Given the description of an element on the screen output the (x, y) to click on. 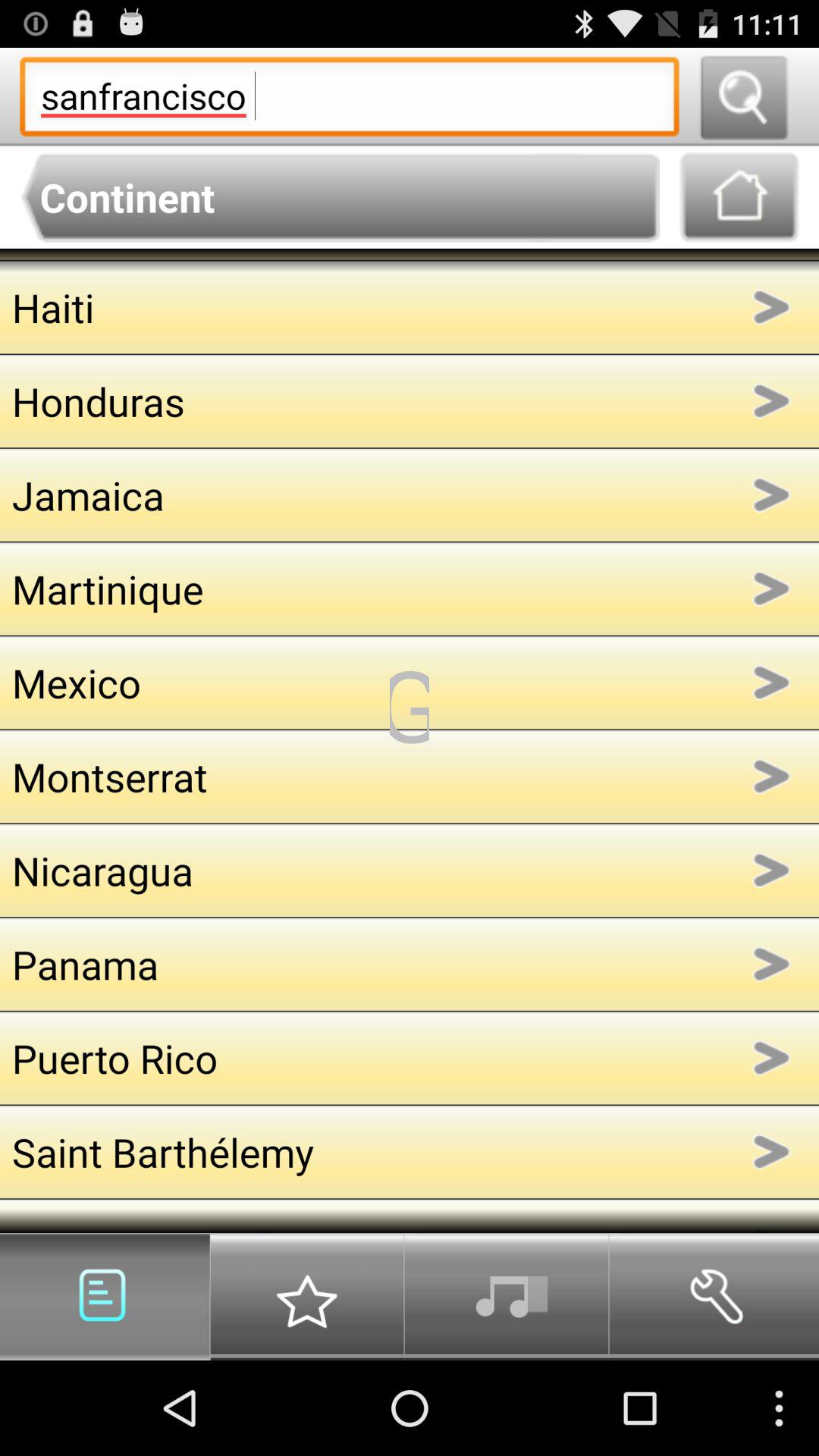
search option (743, 96)
